Given the description of an element on the screen output the (x, y) to click on. 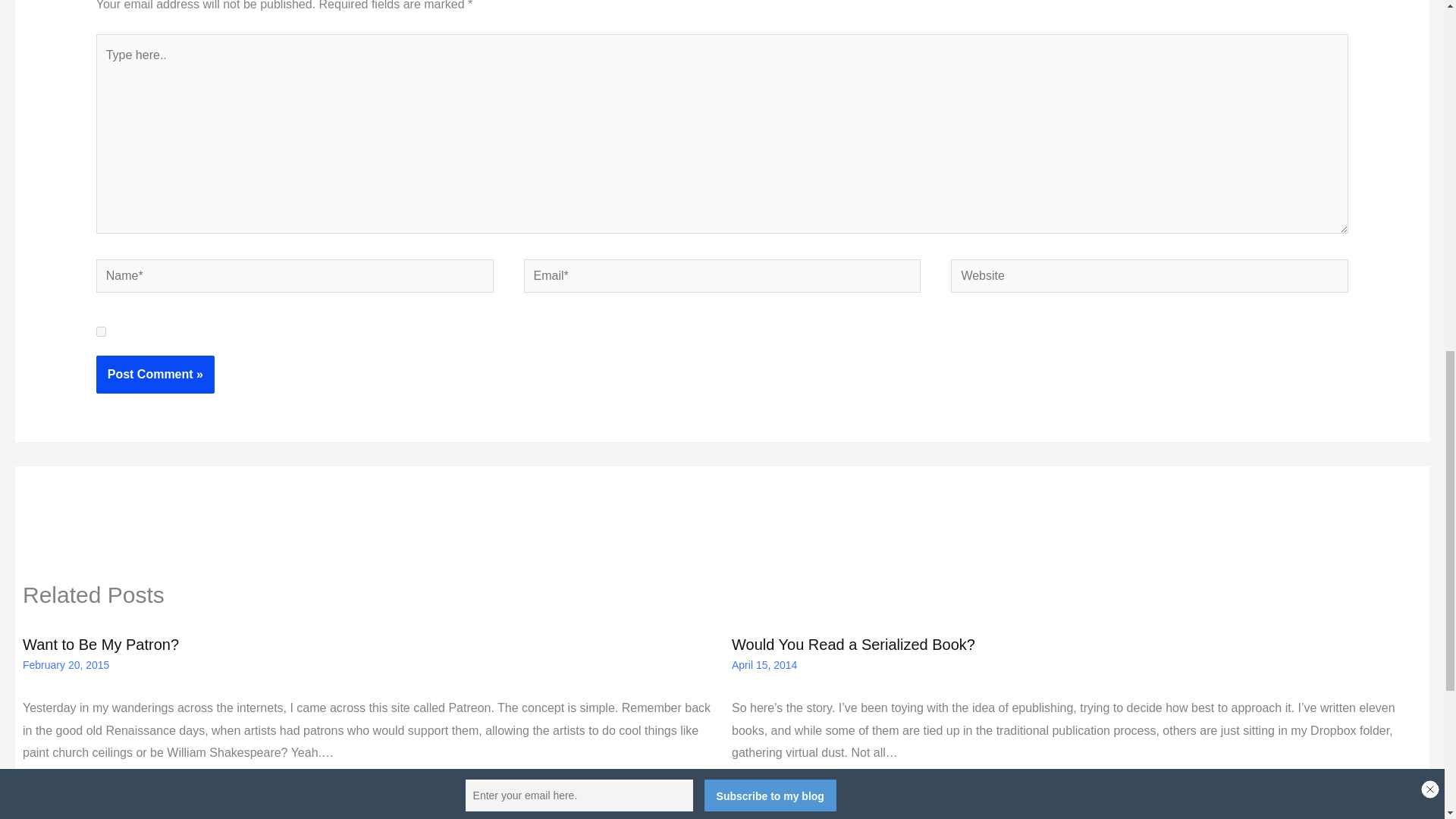
1 (101, 331)
Would You Read a Serialized Book? (853, 644)
Want to Be My Patron? (101, 644)
